Given the description of an element on the screen output the (x, y) to click on. 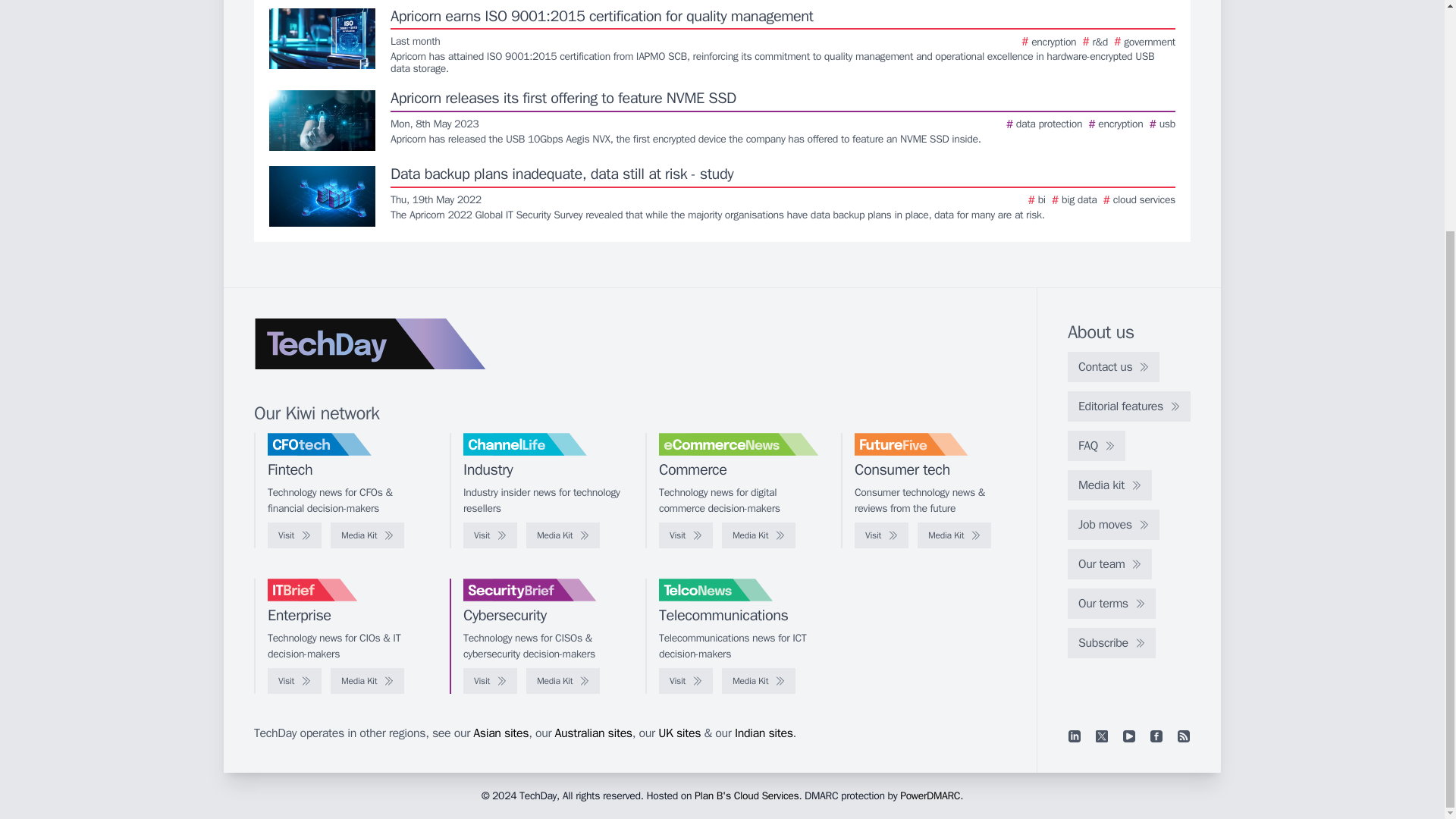
Visit (294, 680)
FAQ (1096, 445)
Media Kit (562, 534)
Media Kit (562, 680)
Media Kit (758, 534)
Media Kit (758, 680)
UK sites (679, 733)
Indian sites (764, 733)
Australian sites (592, 733)
Media Kit (954, 534)
Media Kit (367, 680)
Visit (489, 680)
Editorial features (1129, 406)
Media Kit (367, 534)
Visit (686, 680)
